Given the description of an element on the screen output the (x, y) to click on. 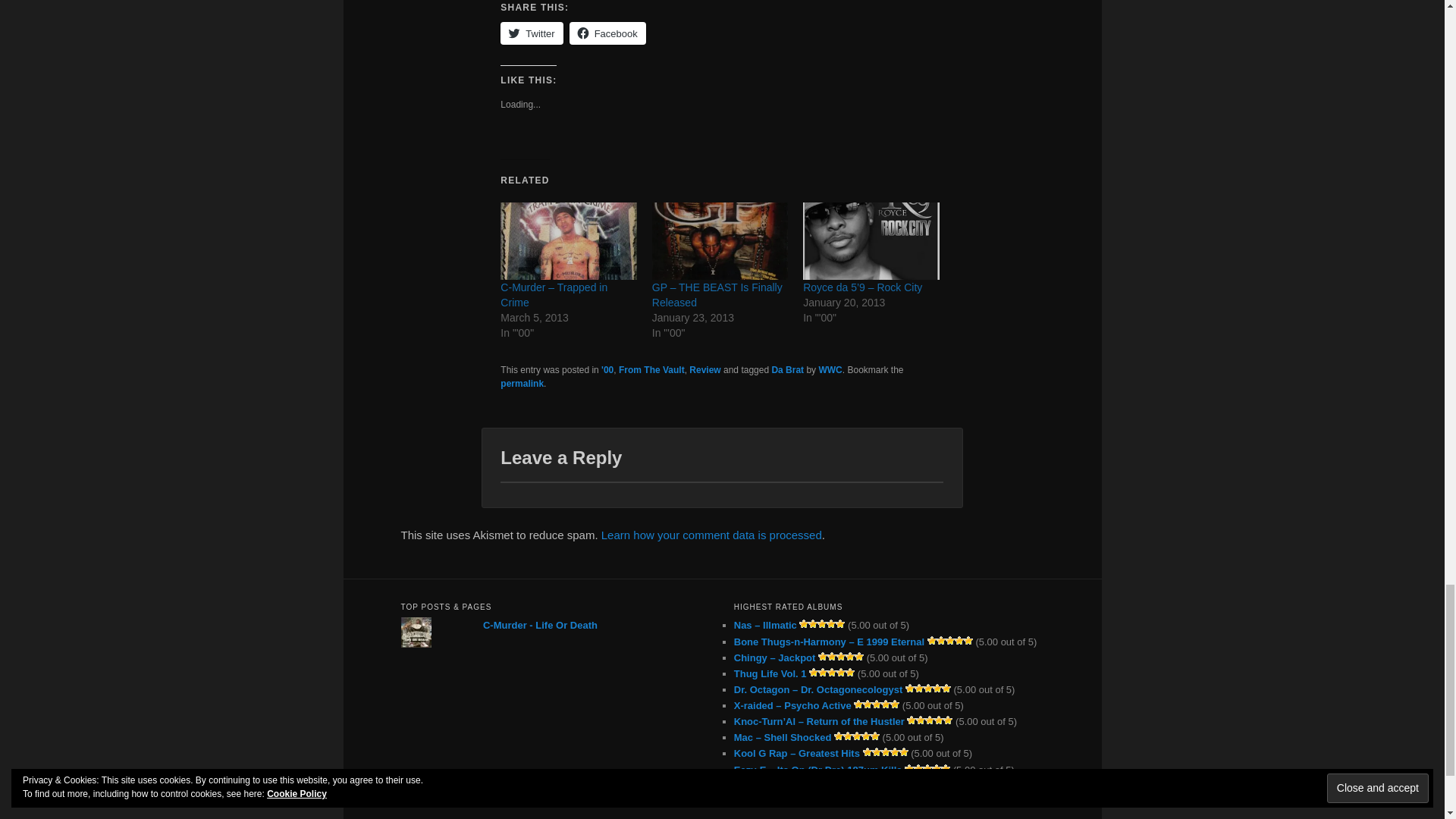
WWC (829, 369)
Click to share on Twitter (531, 33)
permalink (521, 383)
C-Murder - Life Or Death (539, 624)
Facebook (607, 33)
From The Vault (651, 369)
Click to share on Facebook (607, 33)
Twitter (531, 33)
Learn how your comment data is processed (711, 534)
'00 (606, 369)
Review (704, 369)
Da Brat (787, 369)
